Given the description of an element on the screen output the (x, y) to click on. 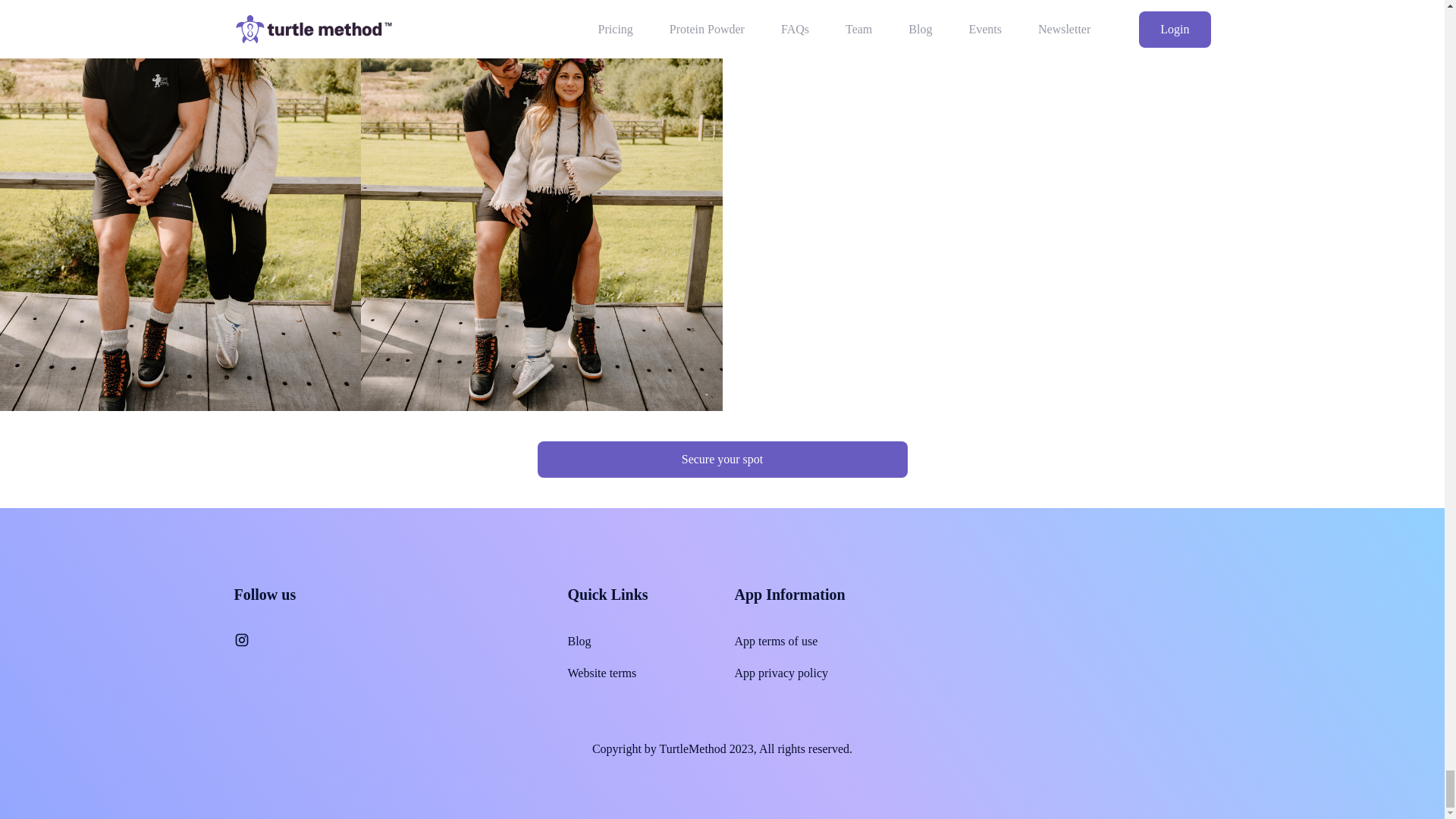
Secure your spot (722, 459)
Blog (579, 641)
